Given the description of an element on the screen output the (x, y) to click on. 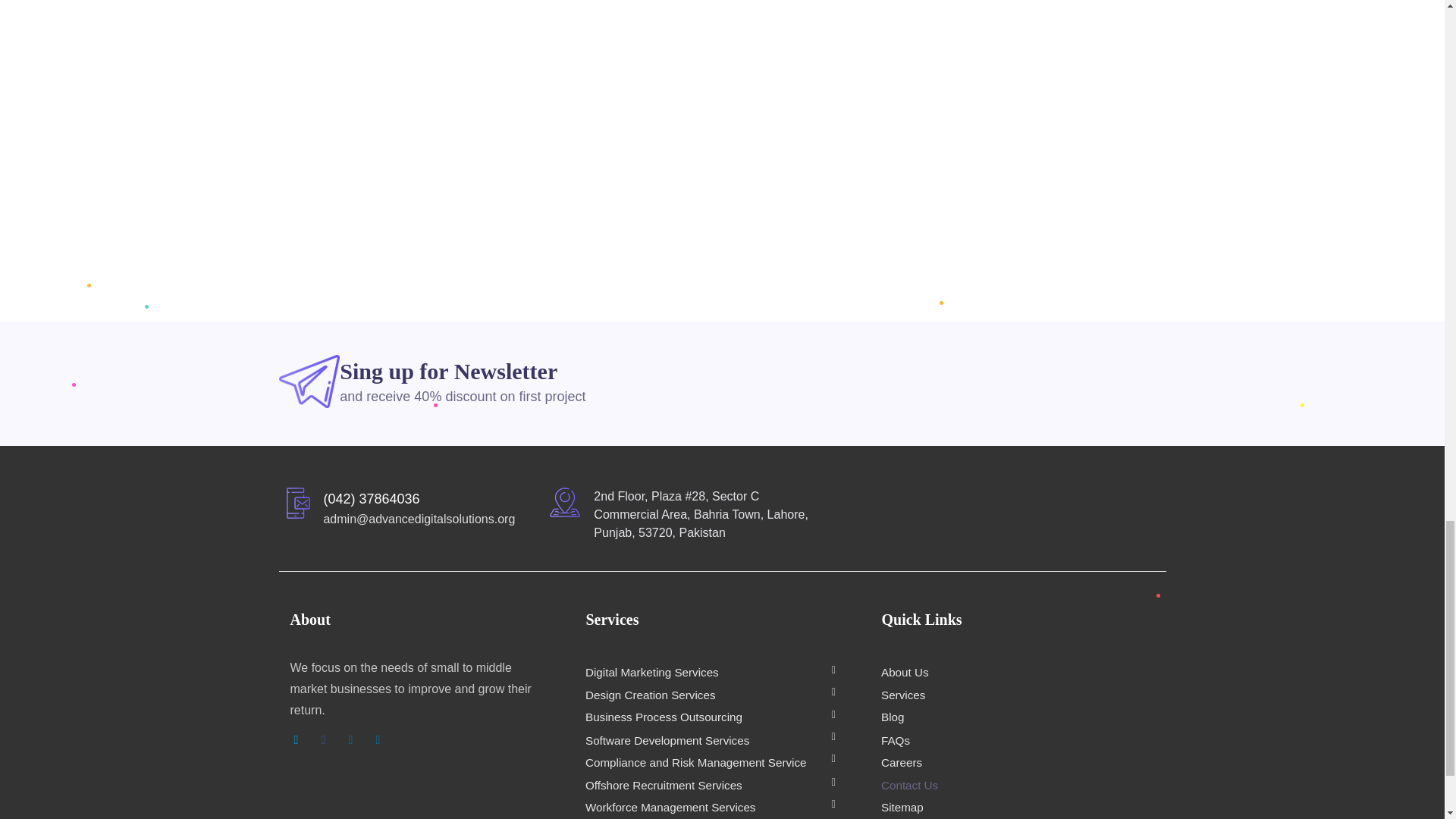
Location (564, 501)
